Given the description of an element on the screen output the (x, y) to click on. 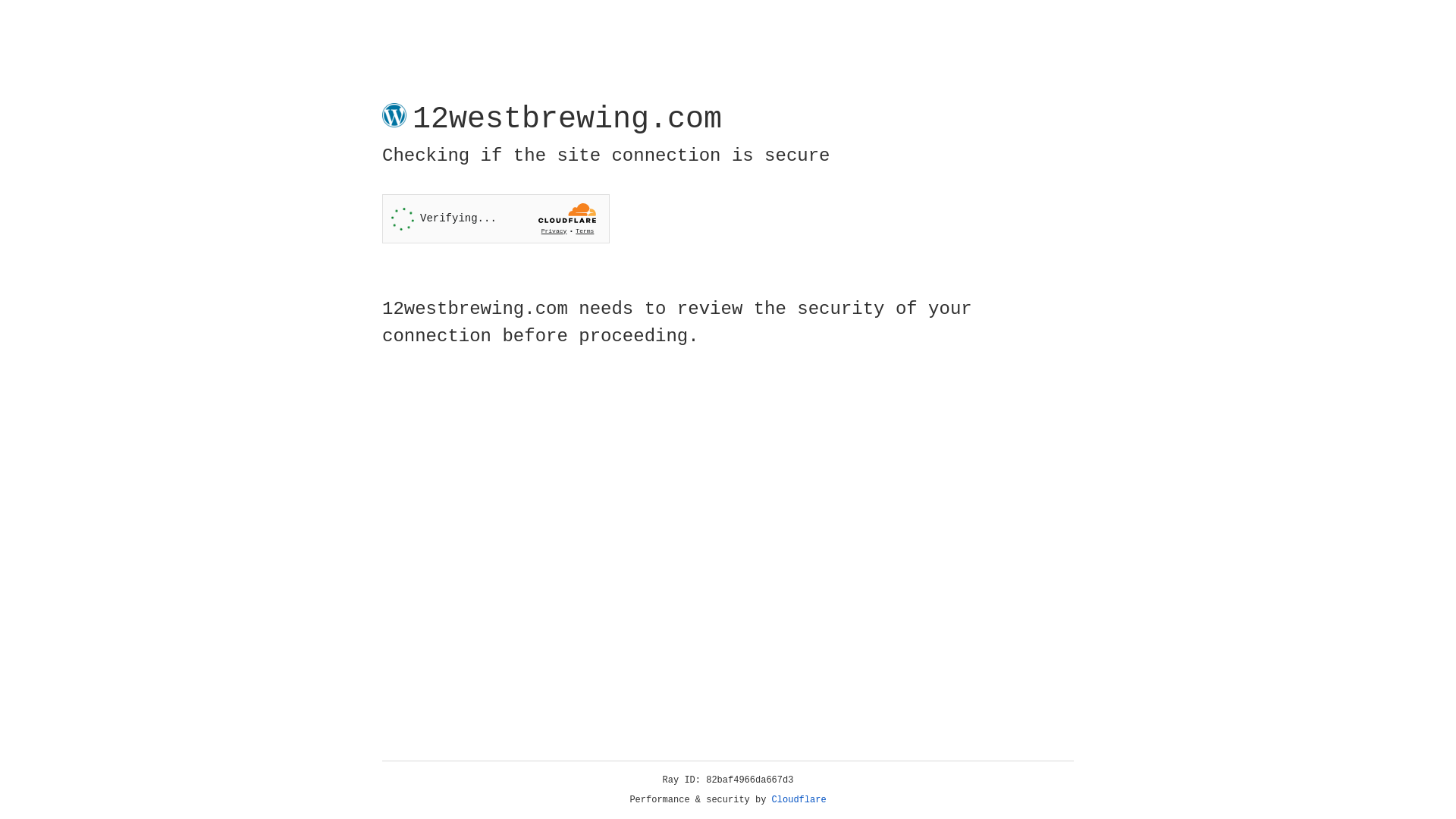
Widget containing a Cloudflare security challenge Element type: hover (495, 218)
Cloudflare Element type: text (798, 799)
